Given the description of an element on the screen output the (x, y) to click on. 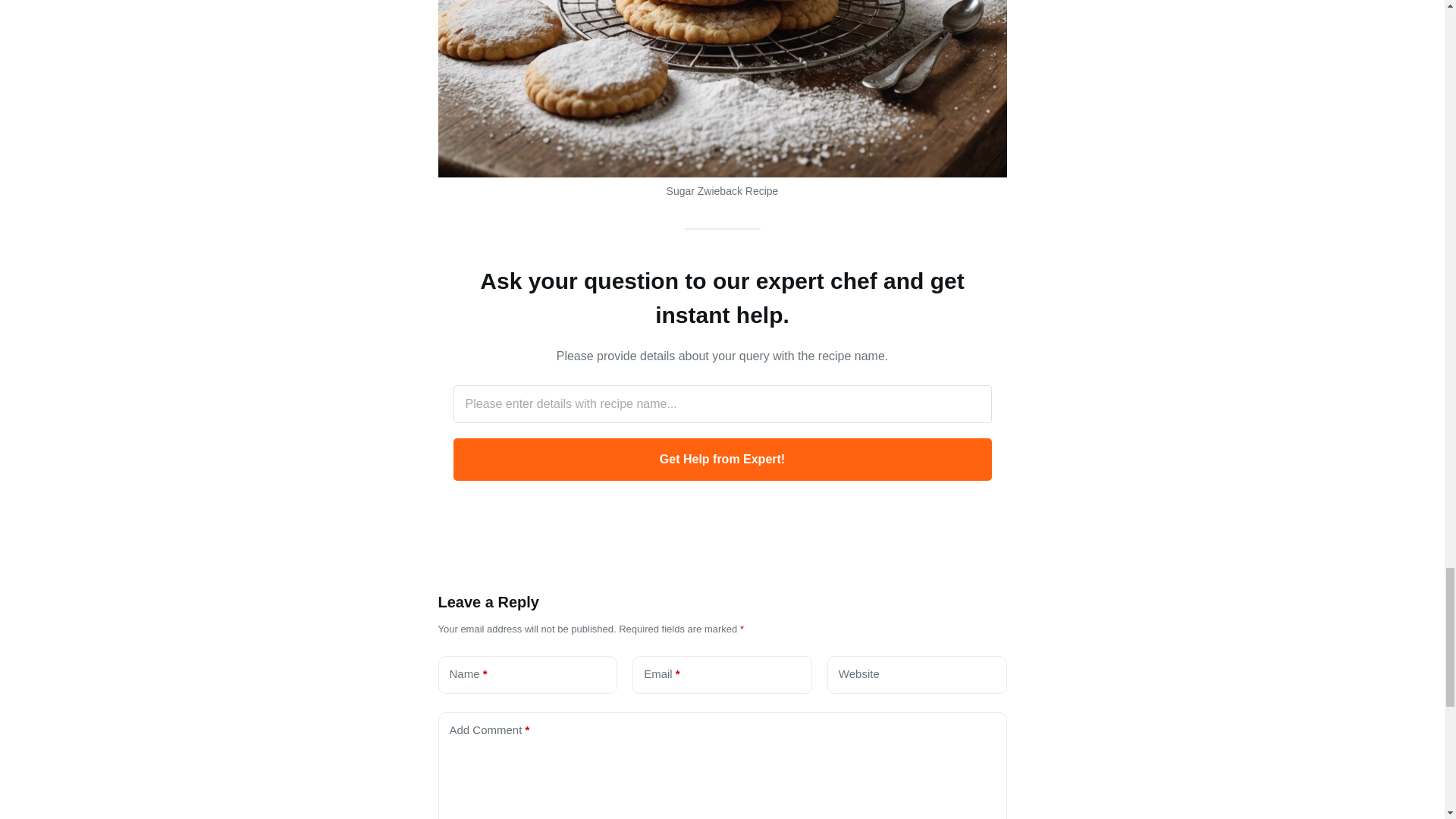
Get Help from Expert! (721, 459)
